Given the description of an element on the screen output the (x, y) to click on. 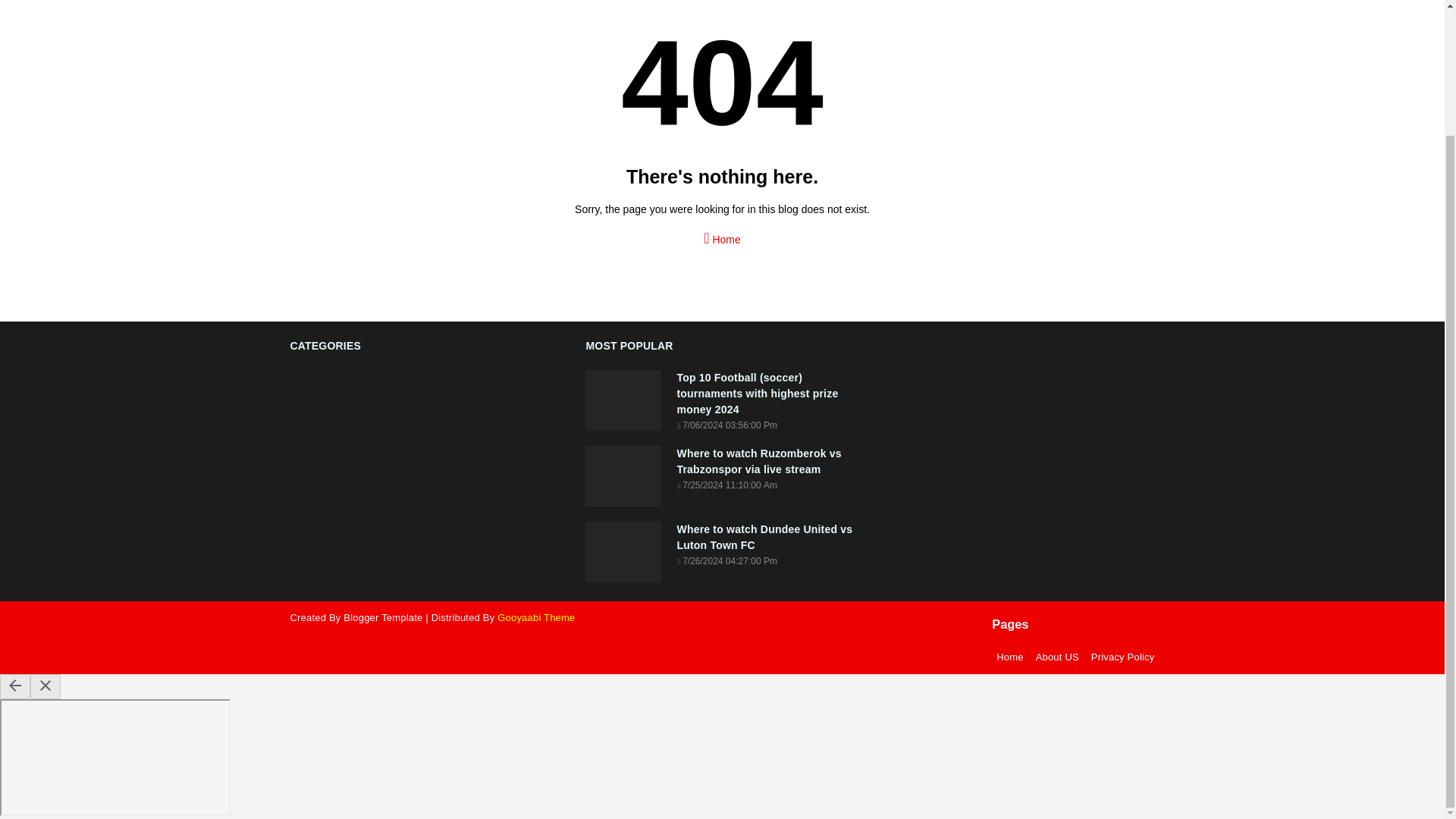
SoraTemplates (382, 617)
Home (721, 233)
Privacy Policy (1120, 657)
Home (1009, 657)
Blogger Template (382, 617)
Where to watch Dundee United vs Luton Town FC (768, 537)
Gooyaabi Theme (536, 617)
Where to watch Ruzomberok vs Trabzonspor via live stream (768, 461)
Gooyaabi Theme (536, 617)
About US (1056, 657)
